Given the description of an element on the screen output the (x, y) to click on. 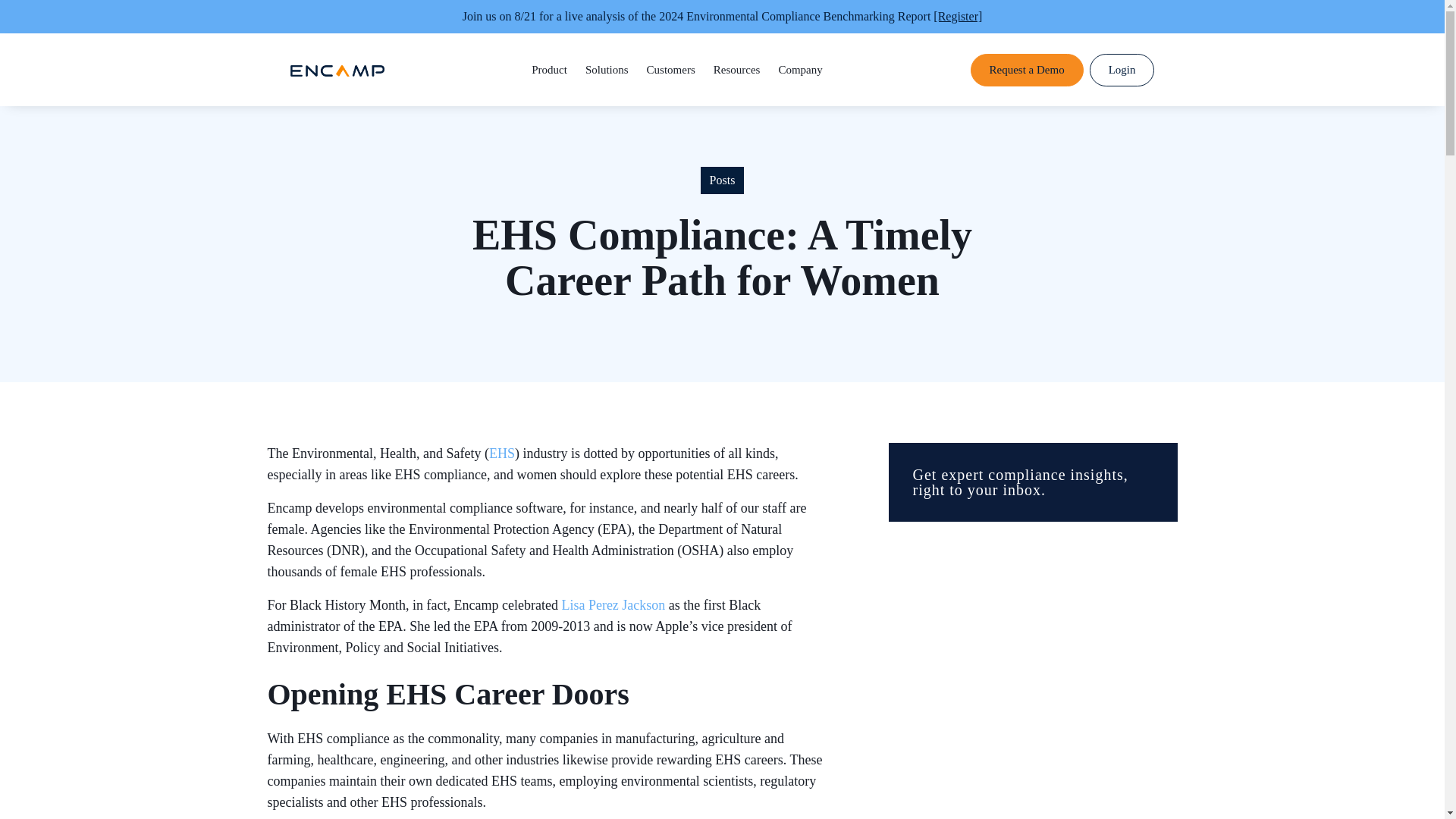
Login (1121, 69)
Customers (670, 69)
Product (549, 69)
Resources (736, 69)
Company (799, 69)
Request a Demo (1027, 69)
Solutions (606, 69)
